Given the description of an element on the screen output the (x, y) to click on. 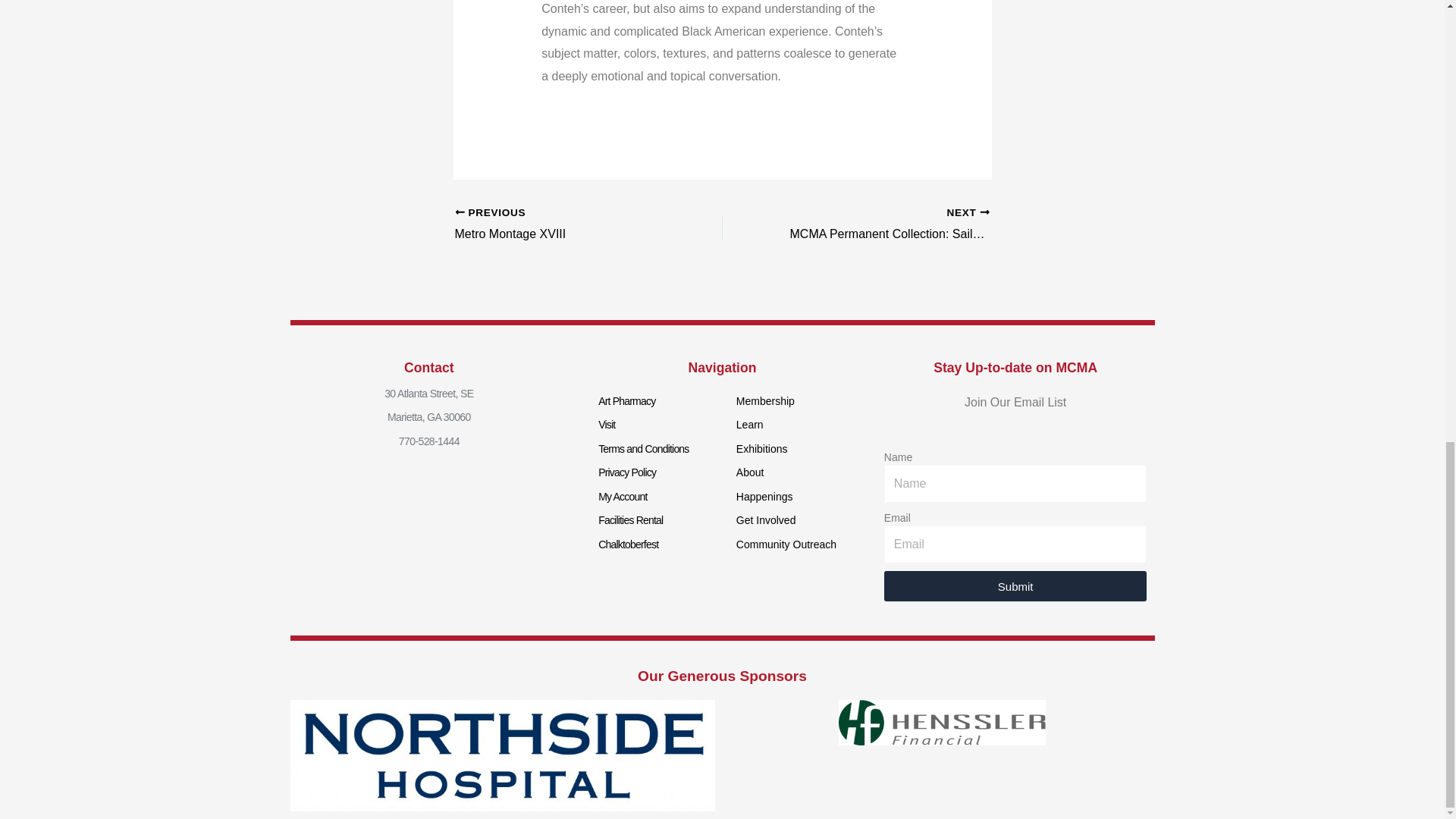
Privacy Policy (627, 472)
Membership (561, 224)
My Account (765, 399)
Metro Montage XVIII (622, 495)
Chalktoberfest (561, 224)
Facilities Rental (628, 544)
Art Pharmacy (630, 520)
Visit (626, 399)
Terms and Conditions (606, 424)
